Given the description of an element on the screen output the (x, y) to click on. 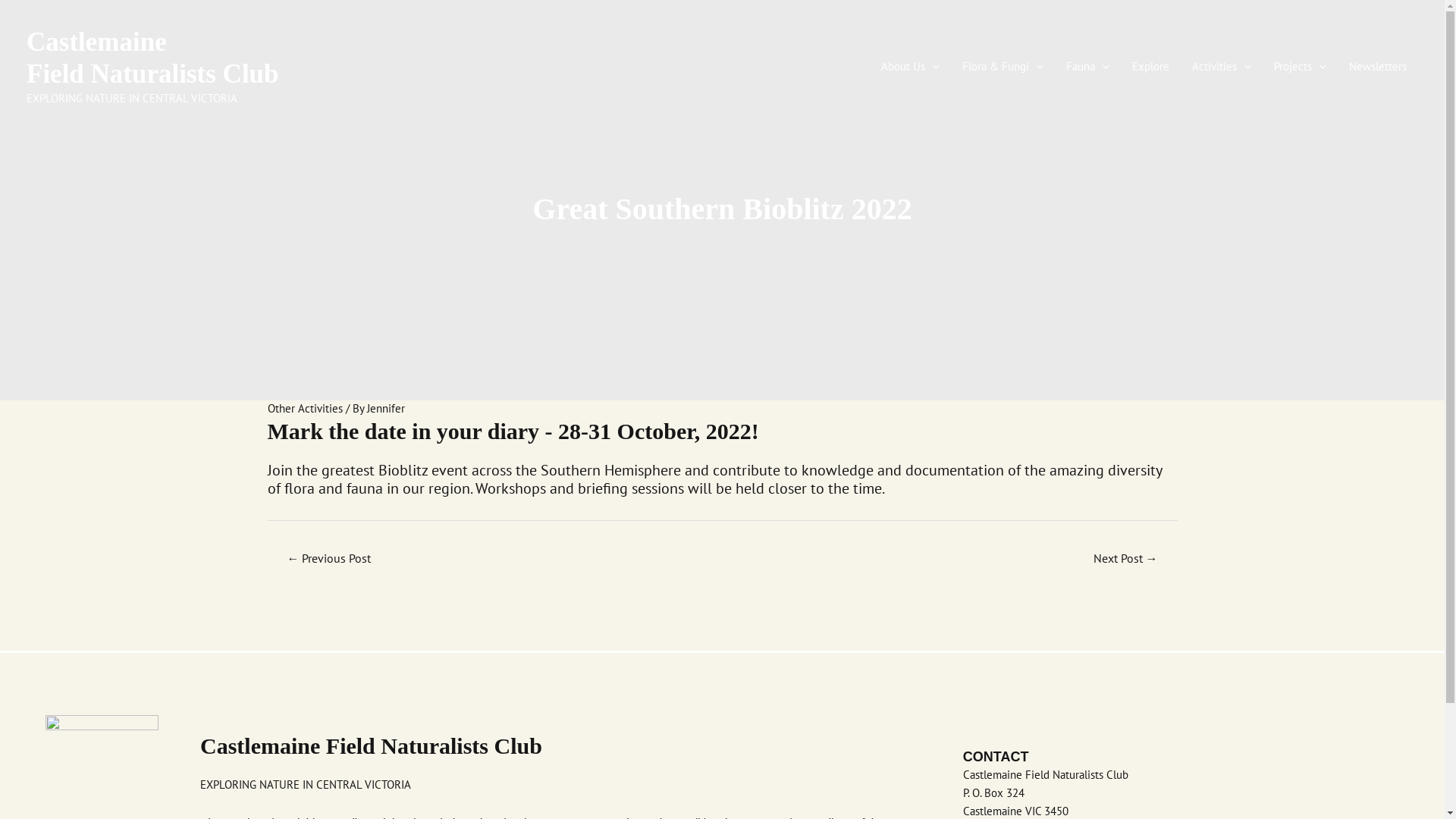
Other Activities Element type: text (304, 408)
Newsletters Element type: text (1377, 66)
Fauna Element type: text (1087, 66)
Castlemaine
Field Naturalists Club Element type: text (152, 57)
Flora & Fungi Element type: text (1002, 66)
About Us Element type: text (909, 66)
Projects Element type: text (1299, 66)
Activities Element type: text (1221, 66)
Explore Element type: text (1150, 66)
Jennifer Element type: text (385, 408)
